Given the description of an element on the screen output the (x, y) to click on. 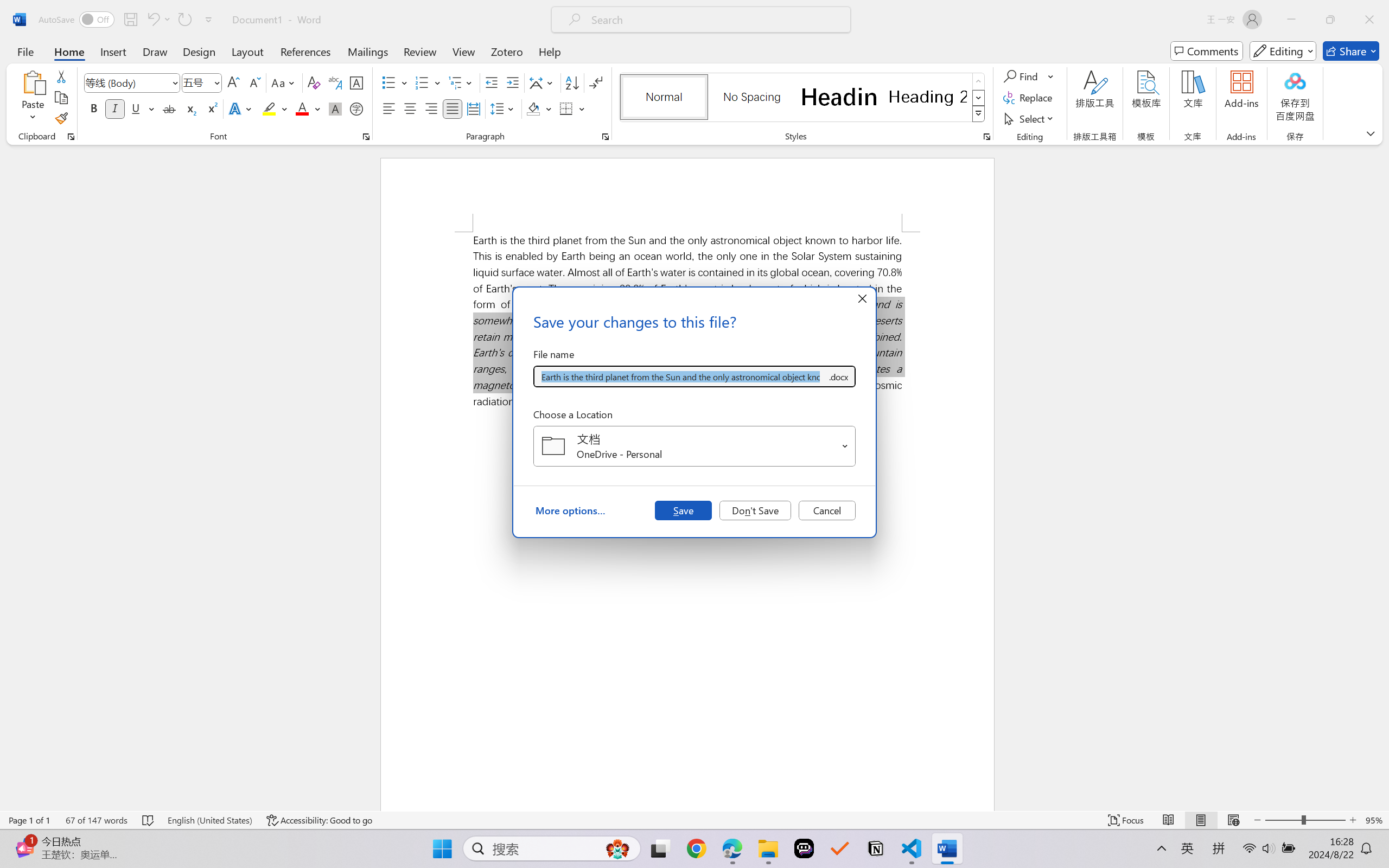
Text Highlight Color Yellow (269, 108)
Subscript (190, 108)
Text Effects and Typography (241, 108)
Character Border (356, 82)
Class: MsoCommandBar (694, 819)
